Given the description of an element on the screen output the (x, y) to click on. 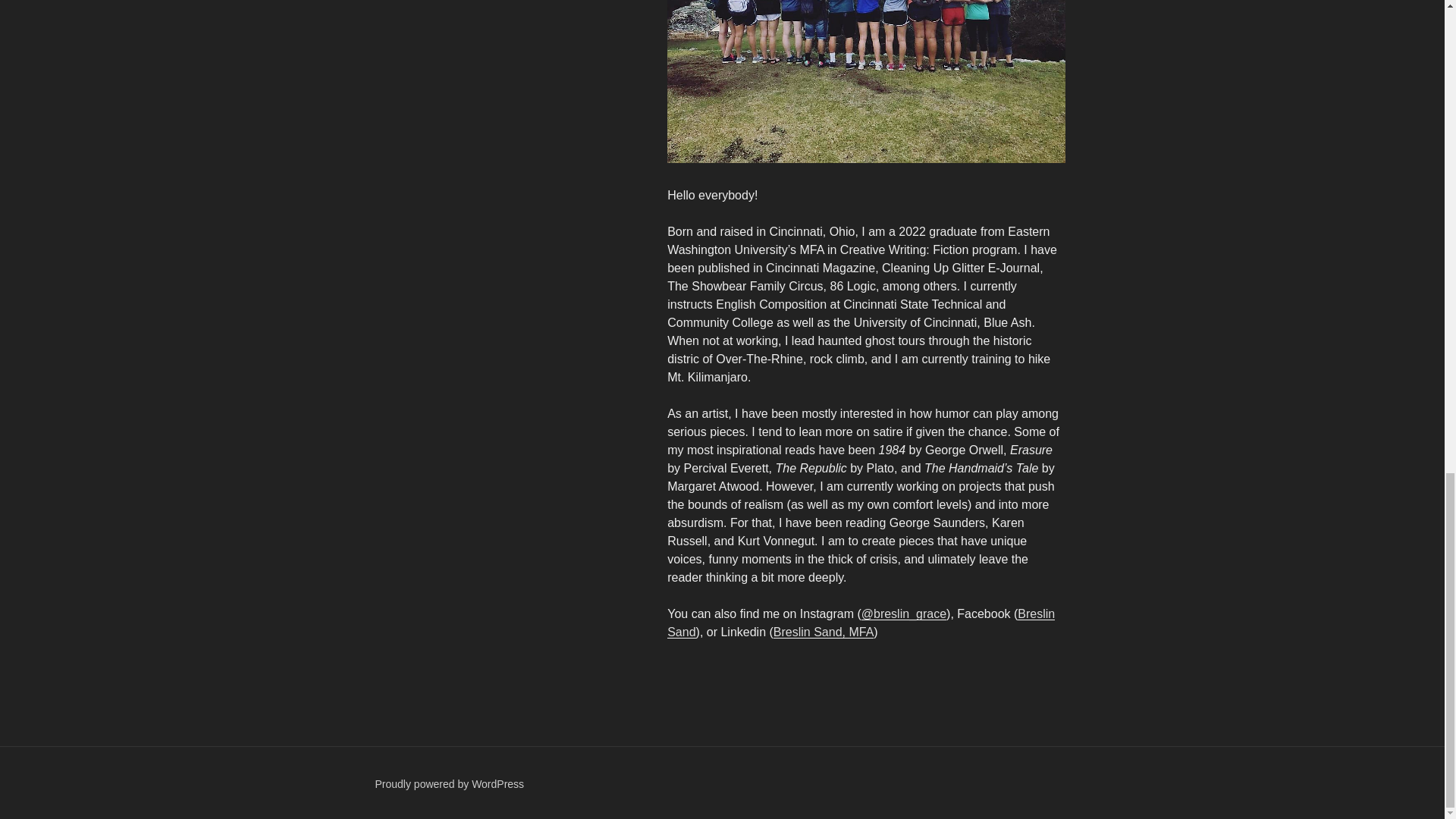
Breslin Sand (860, 622)
together looking out (865, 81)
Breslin Sand, MFA (824, 631)
Proudly powered by WordPress (449, 784)
